Given the description of an element on the screen output the (x, y) to click on. 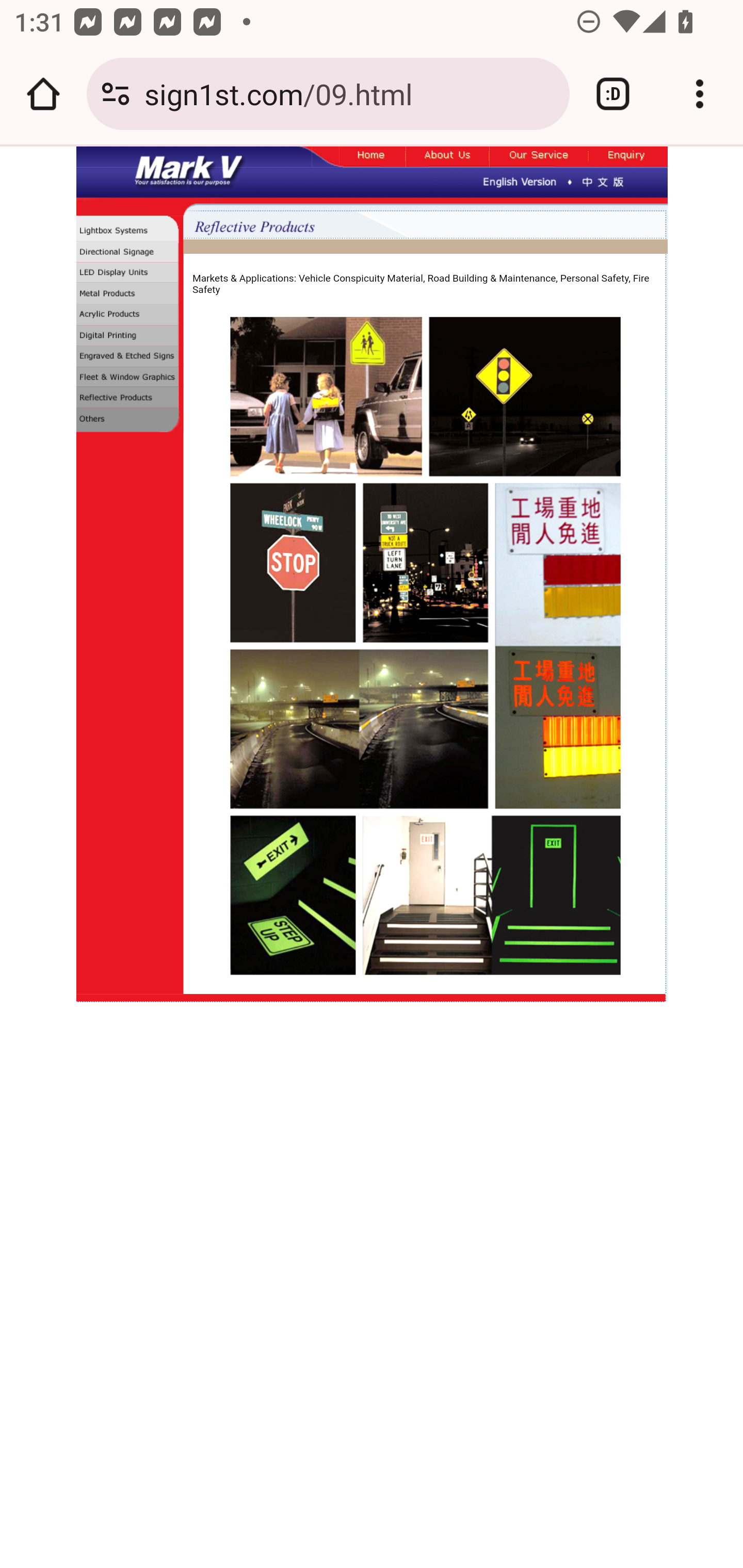
Open the home page (43, 93)
Connection is secure (115, 93)
Switch or close tabs (612, 93)
Customize and control Google Chrome (699, 93)
sign1st.com/09.html (349, 92)
off_04 (372, 157)
off_05 (446, 157)
off_06 (538, 157)
off_07 (627, 157)
chi-09 (602, 180)
01 (129, 230)
02 (129, 251)
03 (129, 273)
04 (129, 294)
05 (129, 316)
06 (129, 336)
07 (129, 357)
08 (129, 377)
09 (129, 397)
10 (129, 421)
